Given the description of an element on the screen output the (x, y) to click on. 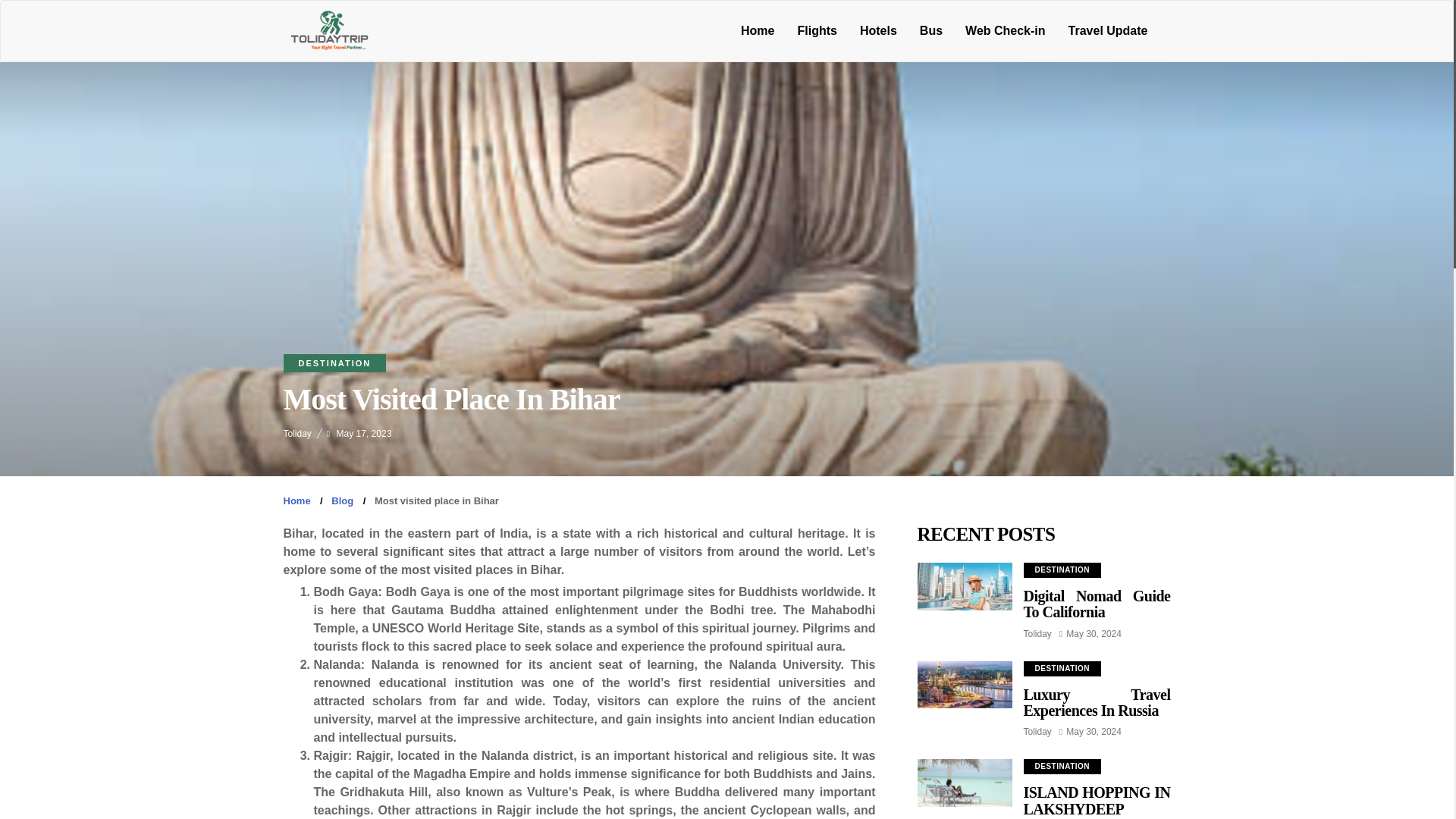
Toliday (297, 433)
Posts by toliday (297, 433)
Home (757, 30)
Home (297, 500)
Home (757, 30)
Hotels (878, 30)
DESTINATION (335, 362)
Travel Update (1107, 30)
Flights (816, 30)
Bus (930, 30)
